Given the description of an element on the screen output the (x, y) to click on. 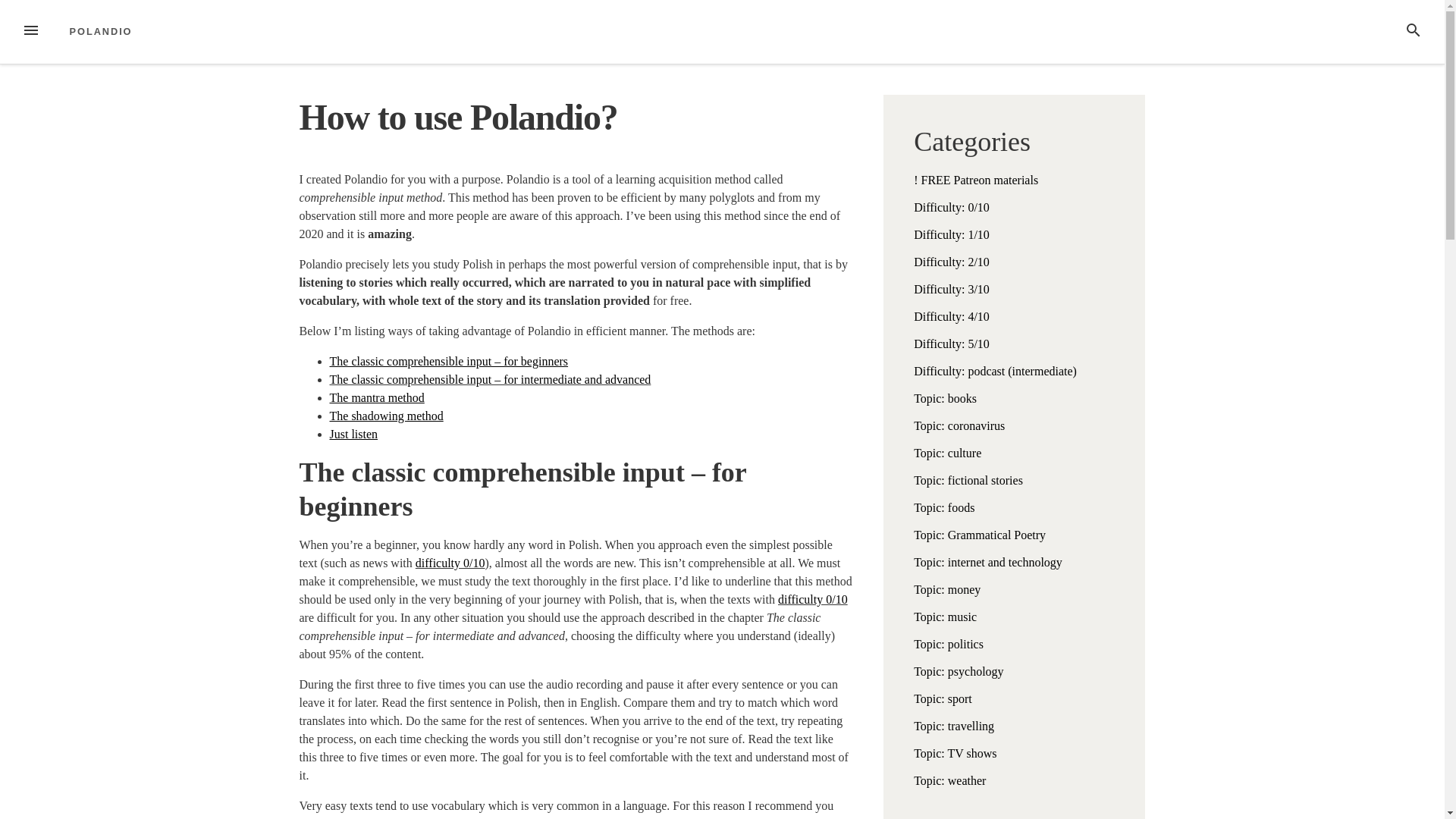
SEARCH (1413, 31)
Topic: fictional stories (968, 480)
Topic: psychology (958, 671)
The mantra method (376, 397)
! FREE Patreon materials (976, 179)
Topic: music (945, 616)
Topic: politics (949, 644)
The shadowing method (385, 415)
Just listen (353, 433)
Topic: culture (947, 452)
Topic: books (945, 398)
Topic: foods (944, 507)
Topic: coronavirus (959, 425)
MENU (30, 31)
Topic: internet and technology (988, 562)
